Given the description of an element on the screen output the (x, y) to click on. 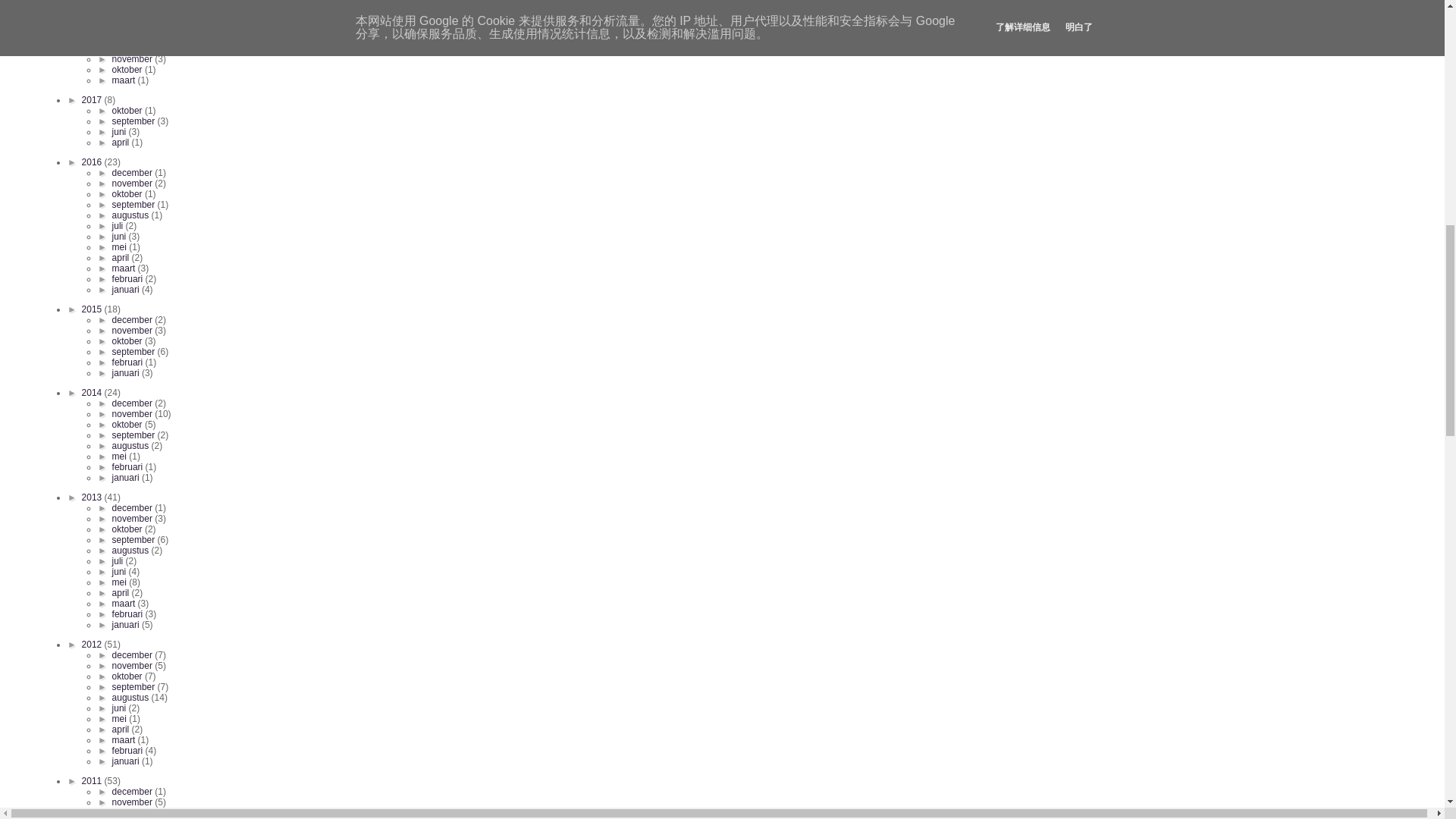
november (133, 59)
augustus (131, 1)
juni (120, 18)
januari (126, 28)
2018 (92, 48)
juli (118, 7)
